Given the description of an element on the screen output the (x, y) to click on. 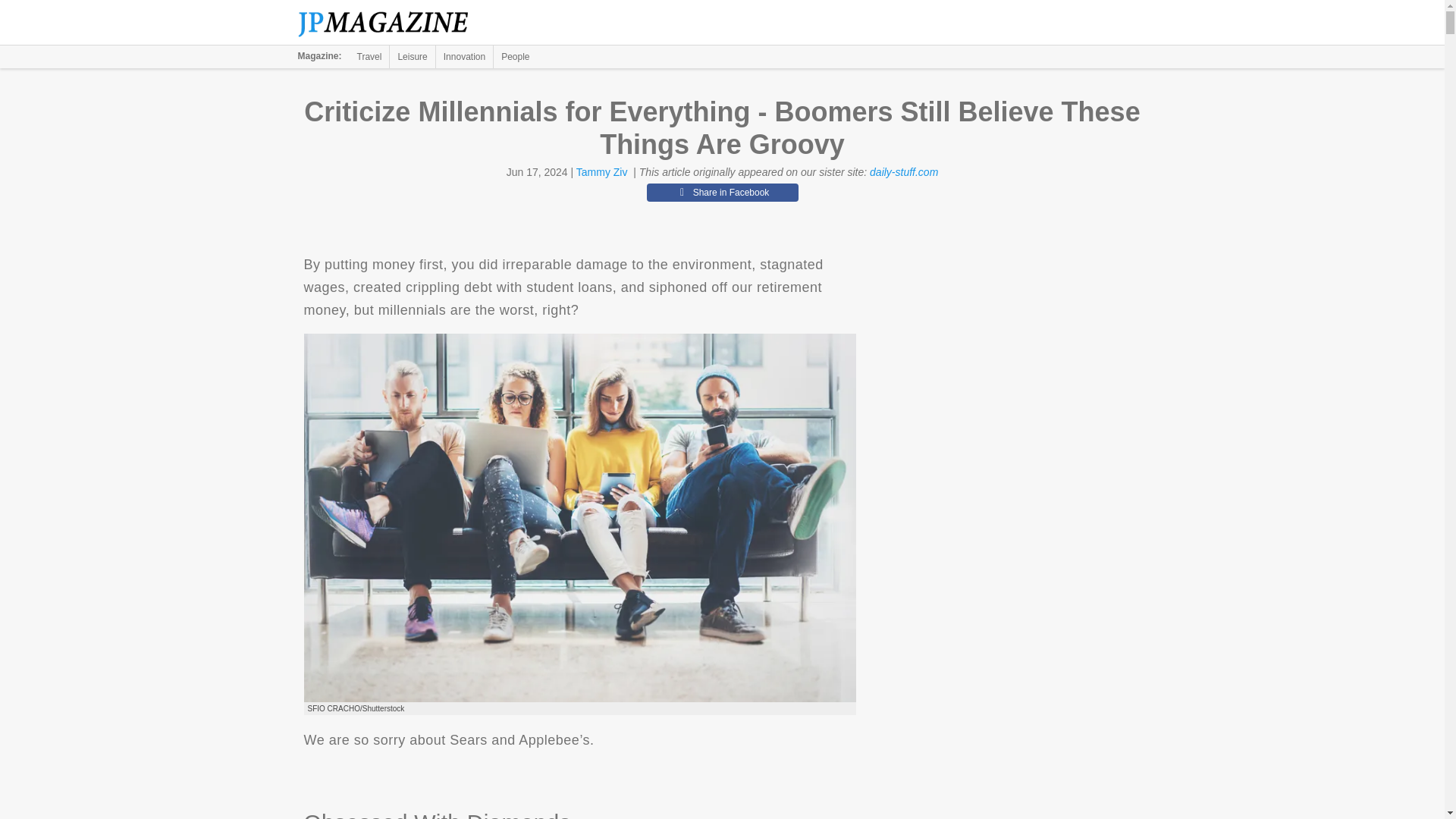
People (515, 56)
daily-stuff.com (903, 172)
Share in Facebook (721, 192)
The Jerusalem Post Magazine (391, 22)
Innovation (464, 56)
Tammy Ziv (601, 172)
Travel (369, 56)
Leisure (411, 56)
